Given the description of an element on the screen output the (x, y) to click on. 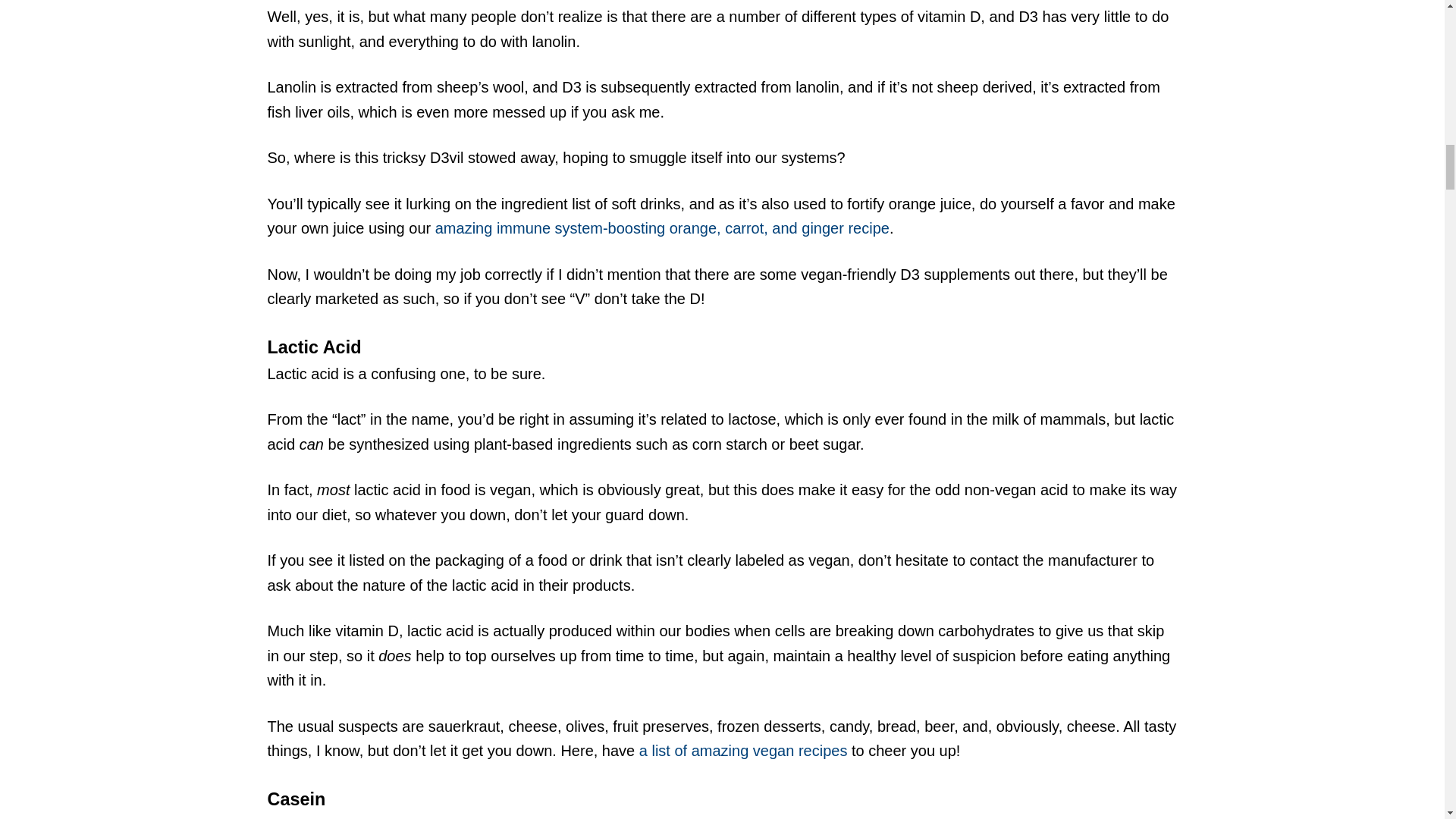
a list of amazing vegan recipes (743, 750)
